Given the description of an element on the screen output the (x, y) to click on. 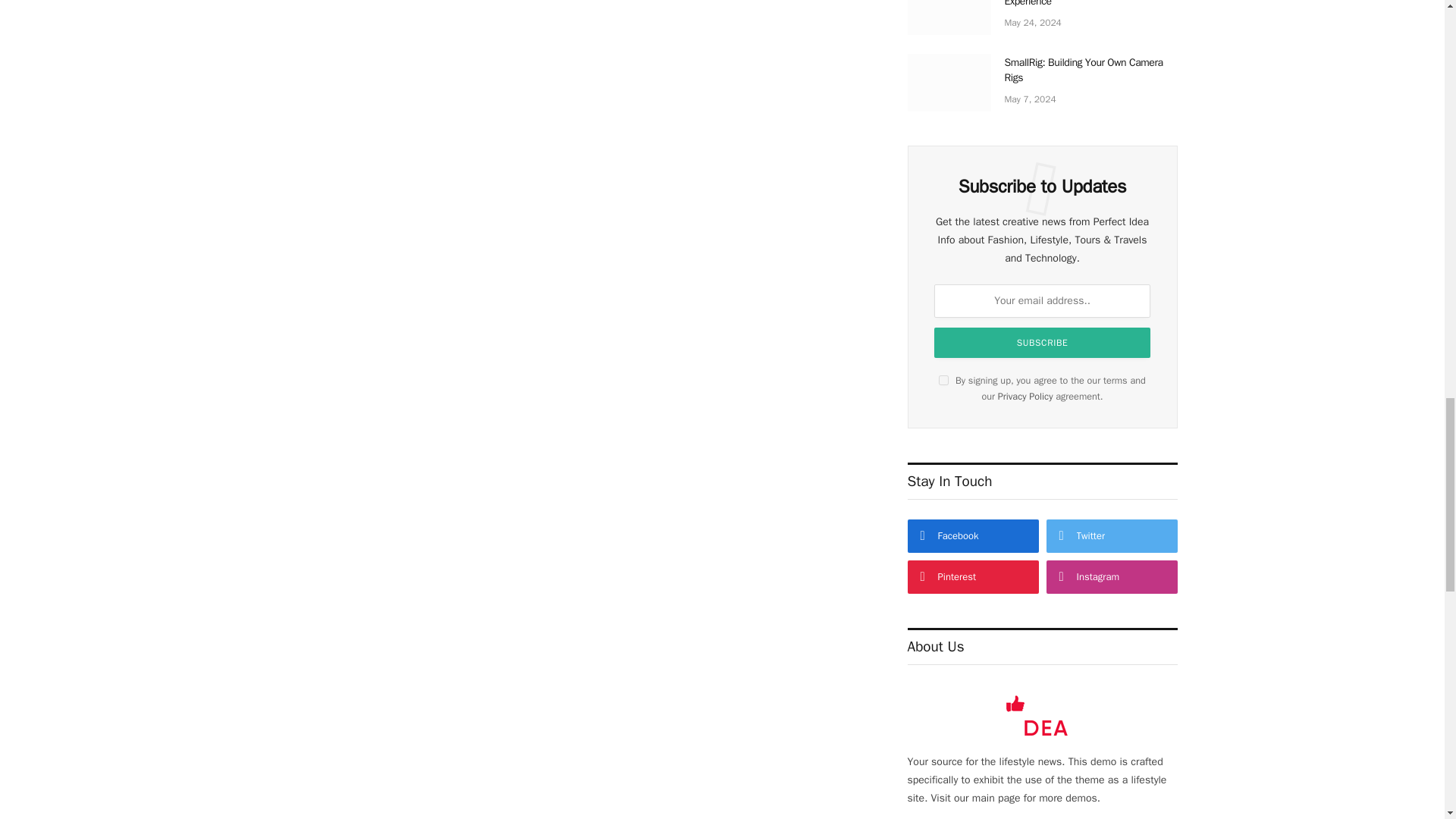
Codashop: Elevate Your Gaming Experience (948, 17)
on (944, 379)
SmallRig: Building Your Own Camera Rigs (948, 82)
Subscribe (1042, 342)
